Given the description of an element on the screen output the (x, y) to click on. 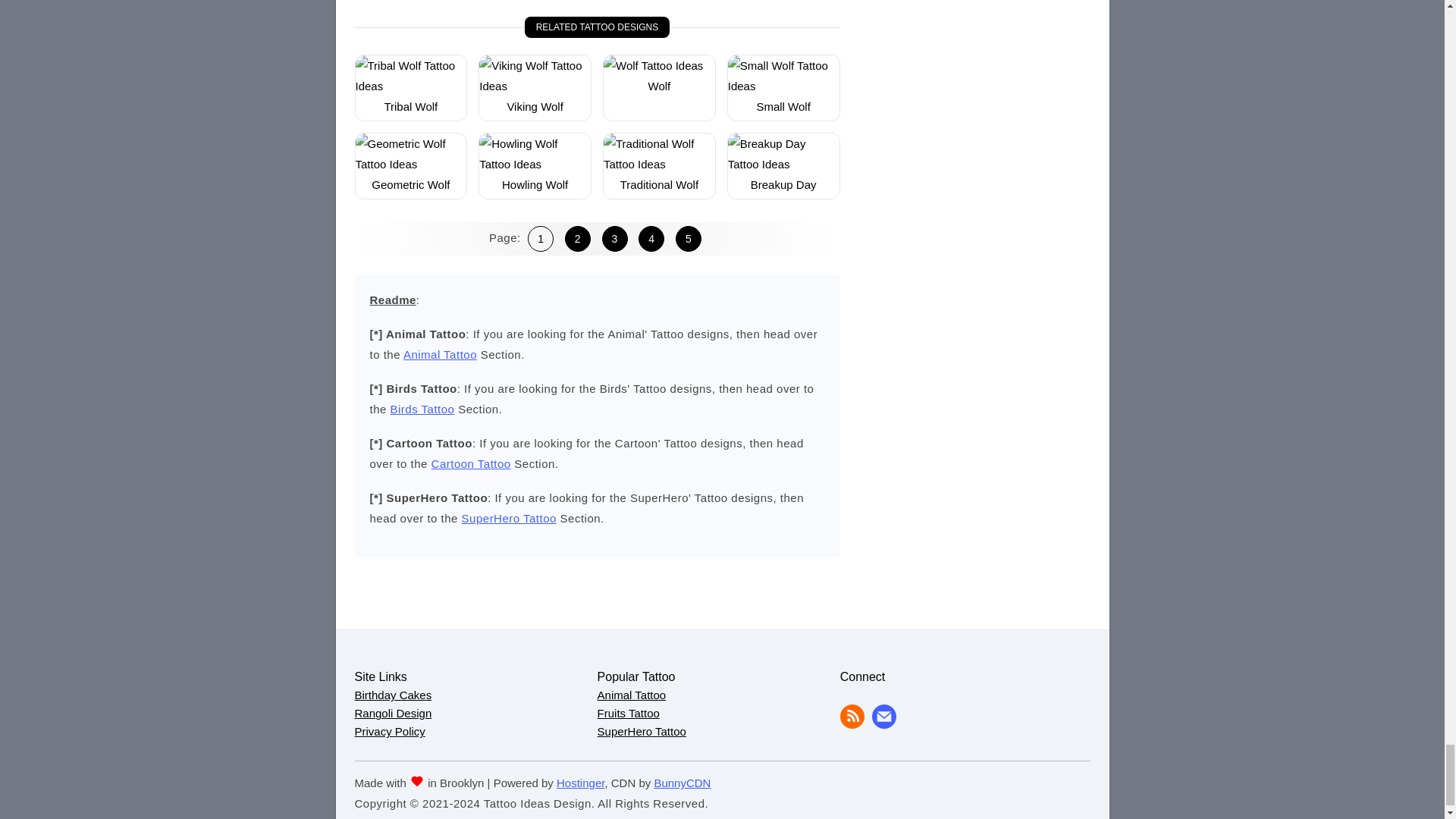
Viking Wolf (534, 106)
Traditional Wolf (659, 164)
2 (577, 238)
Cartoon Tattoo (470, 463)
Breakup Day (783, 184)
Small Wolf (782, 106)
Viking Wolf (535, 85)
Small Wolf (784, 85)
Howling Wolf (535, 164)
Geometric Wolf (410, 164)
